Given the description of an element on the screen output the (x, y) to click on. 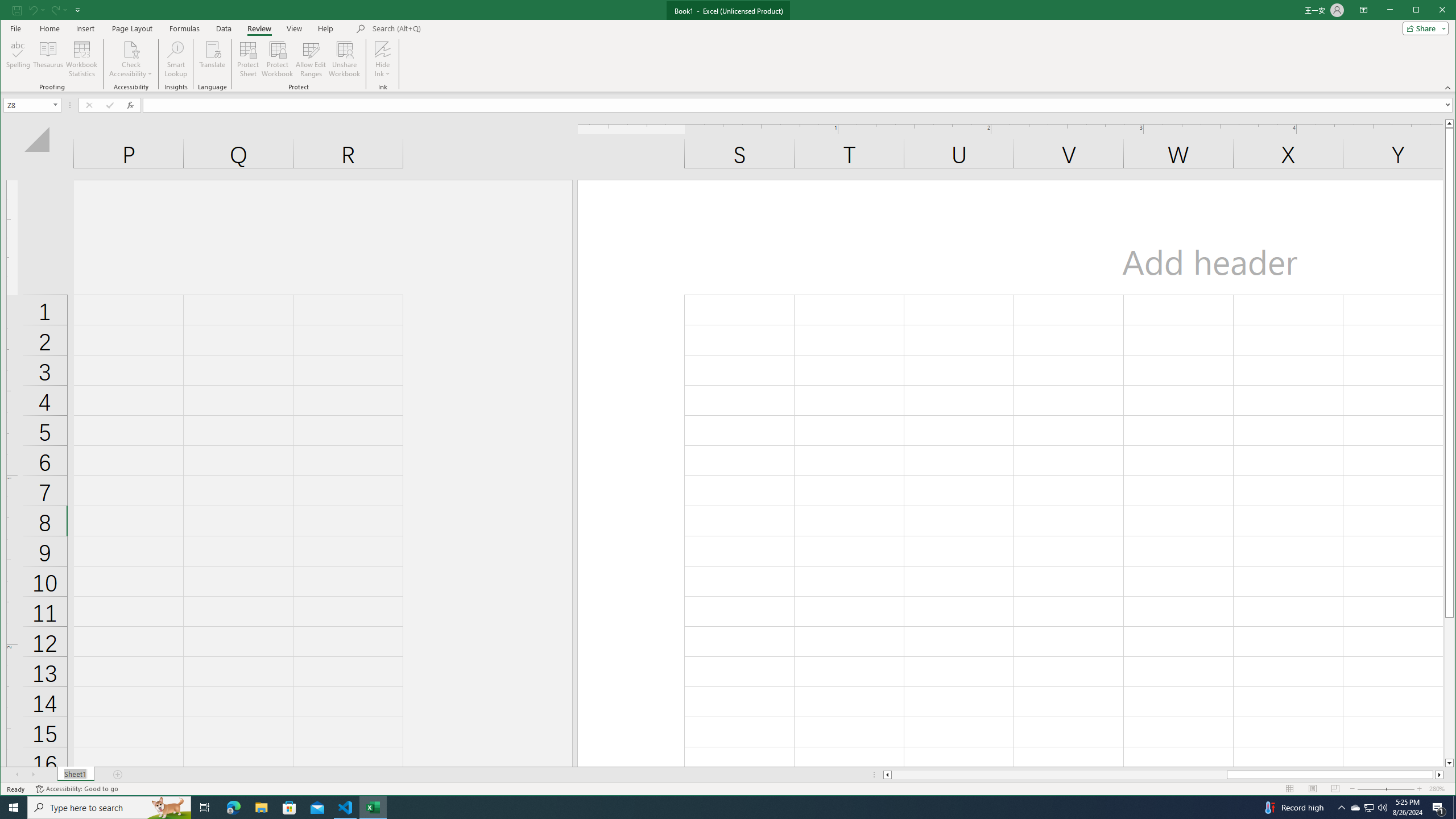
Microsoft Edge (233, 807)
Running applications (717, 807)
Notification Chevron (1341, 807)
Q2790: 100% (1355, 807)
